Given the description of an element on the screen output the (x, y) to click on. 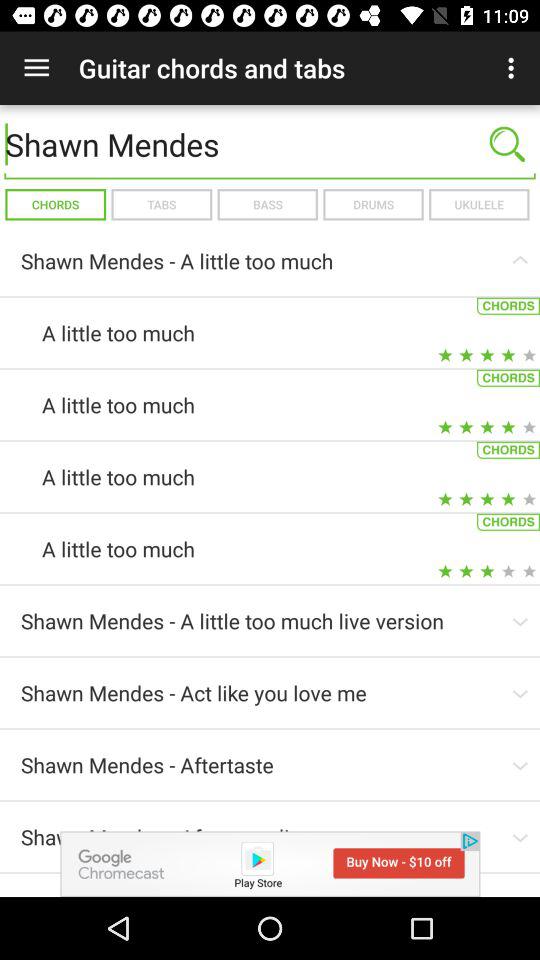
high lighted area are represents using methods of this app (270, 864)
